Given the description of an element on the screen output the (x, y) to click on. 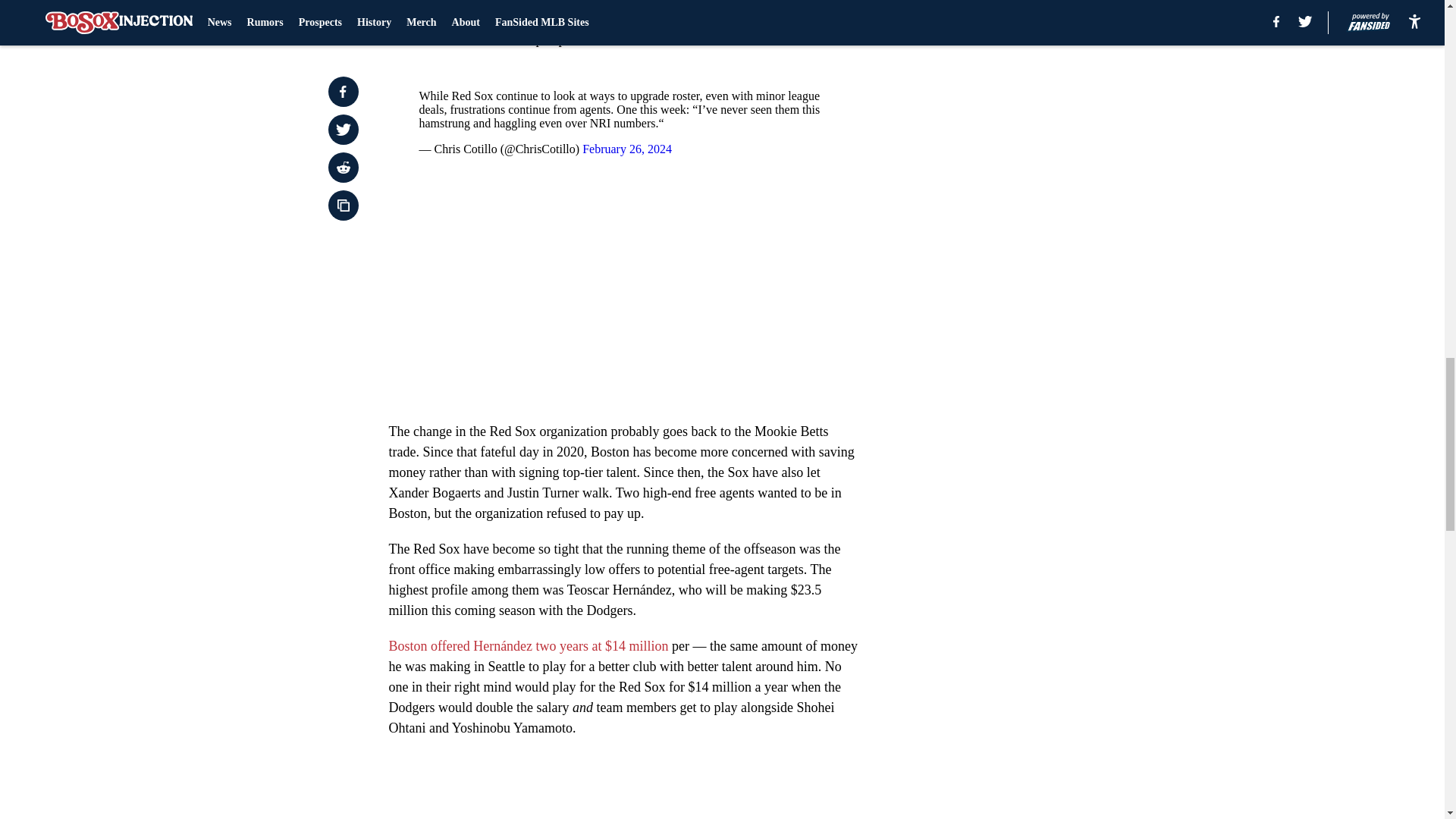
February 26, 2024 (626, 148)
